Given the description of an element on the screen output the (x, y) to click on. 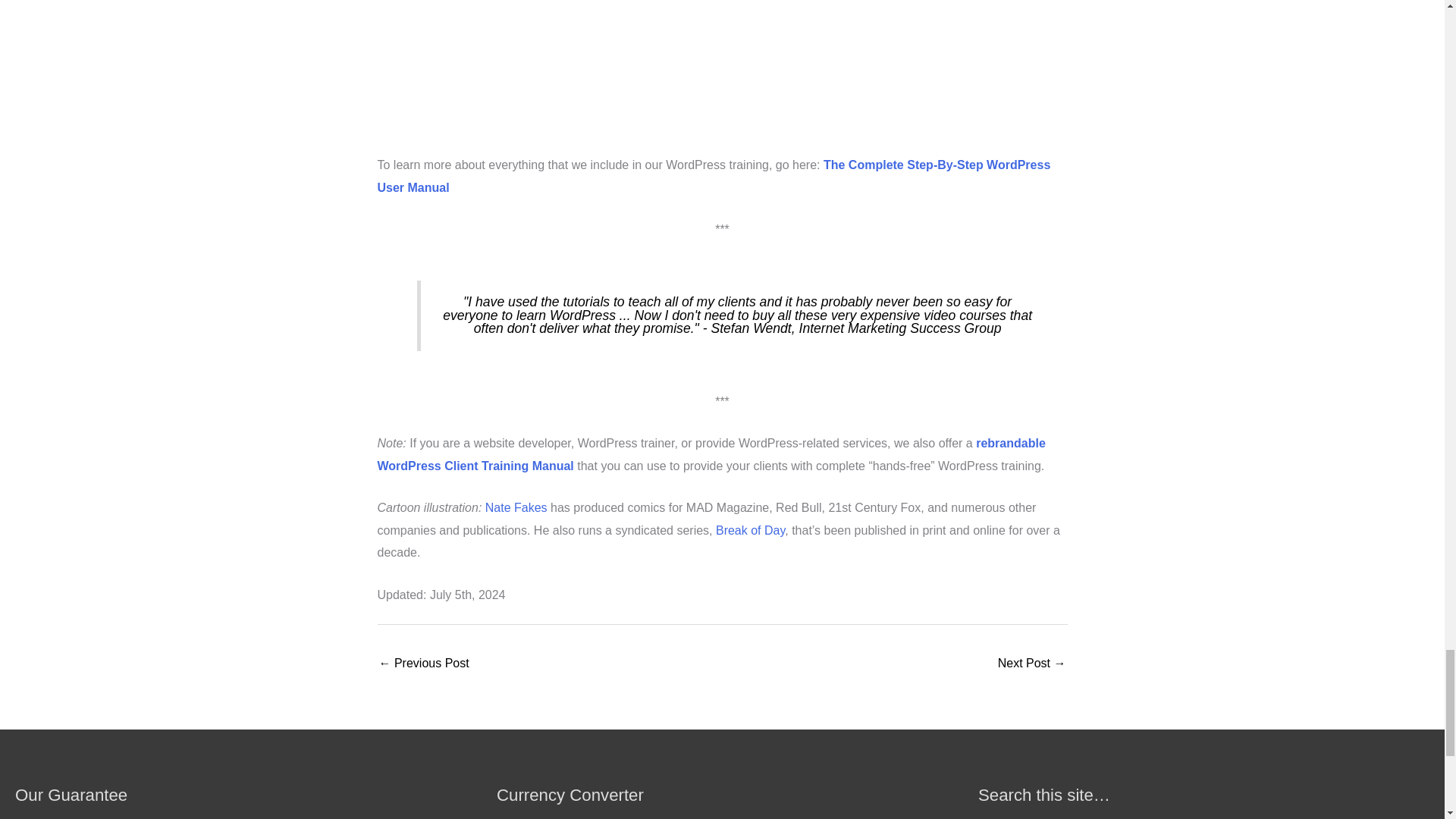
The Complete Step-By-Step WordPress User Manual (722, 76)
WordPress 5.8 (423, 664)
